Given the description of an element on the screen output the (x, y) to click on. 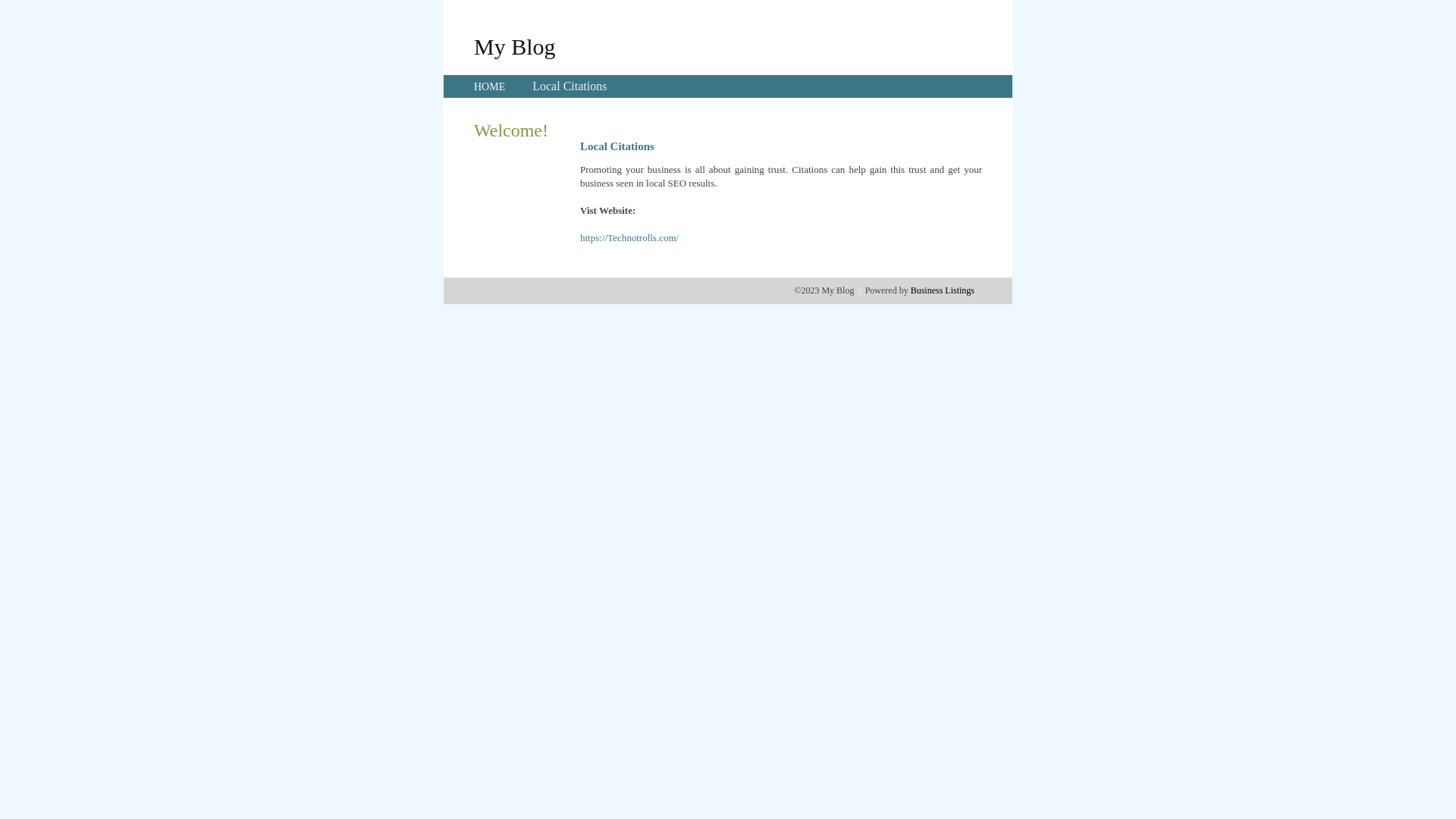
https://Technotrolls.com/ Element type: text (629, 237)
HOME Element type: text (489, 86)
Local Citations Element type: text (569, 85)
My Blog Element type: text (514, 46)
Business Listings Element type: text (942, 290)
